Given the description of an element on the screen output the (x, y) to click on. 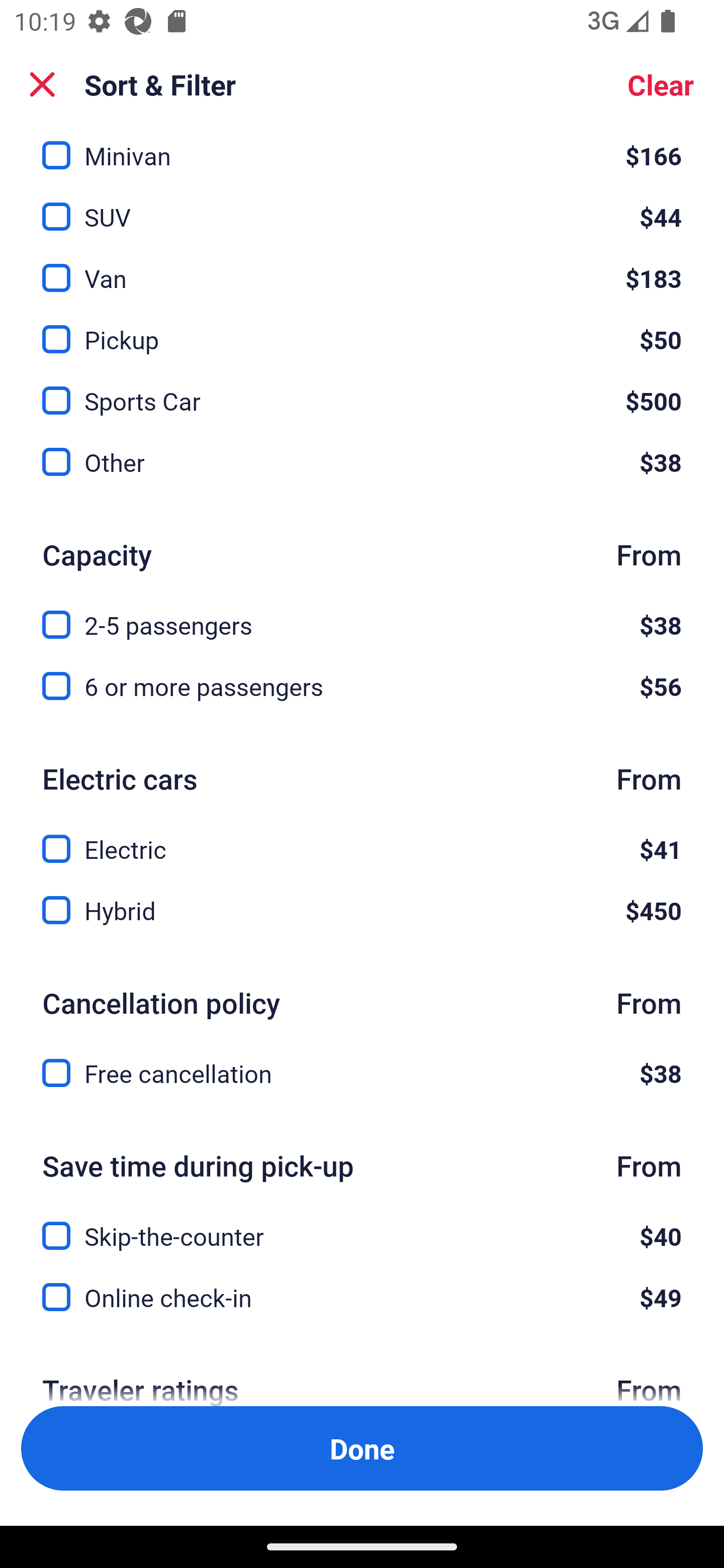
Close Sort and Filter (42, 84)
Clear (660, 84)
Minivan, $166 Minivan $166 (361, 151)
SUV, $44 SUV $44 (361, 205)
Van, $183 Van $183 (361, 266)
Pickup, $50 Pickup $50 (361, 328)
Sports Car, $500 Sports Car $500 (361, 389)
Other, $38 Other $38 (361, 462)
2-5 passengers, $38 2-5 passengers $38 (361, 613)
6 or more passengers, $56 6 or more passengers $56 (361, 686)
Electric, $41 Electric $41 (361, 837)
Hybrid, $450 Hybrid $450 (361, 910)
Free cancellation, $38 Free cancellation $38 (361, 1073)
Skip-the-counter, $40 Skip-the-counter $40 (361, 1224)
Online check-in, $49 Online check-in $49 (361, 1297)
Apply and close Sort and Filter Done (361, 1448)
